Given the description of an element on the screen output the (x, y) to click on. 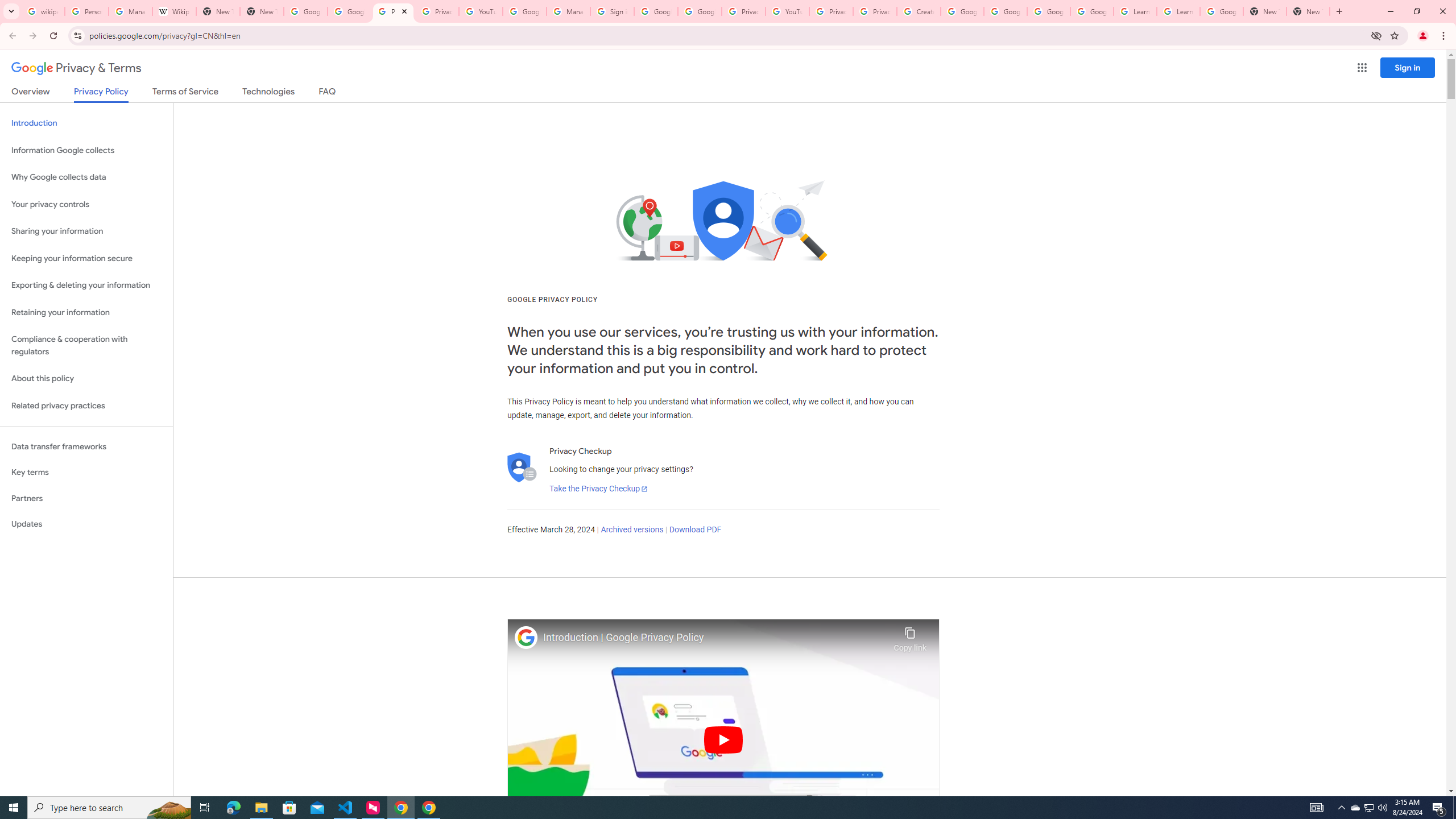
Google Account Help (524, 11)
Copy link (909, 636)
Related privacy practices (86, 405)
